Given the description of an element on the screen output the (x, y) to click on. 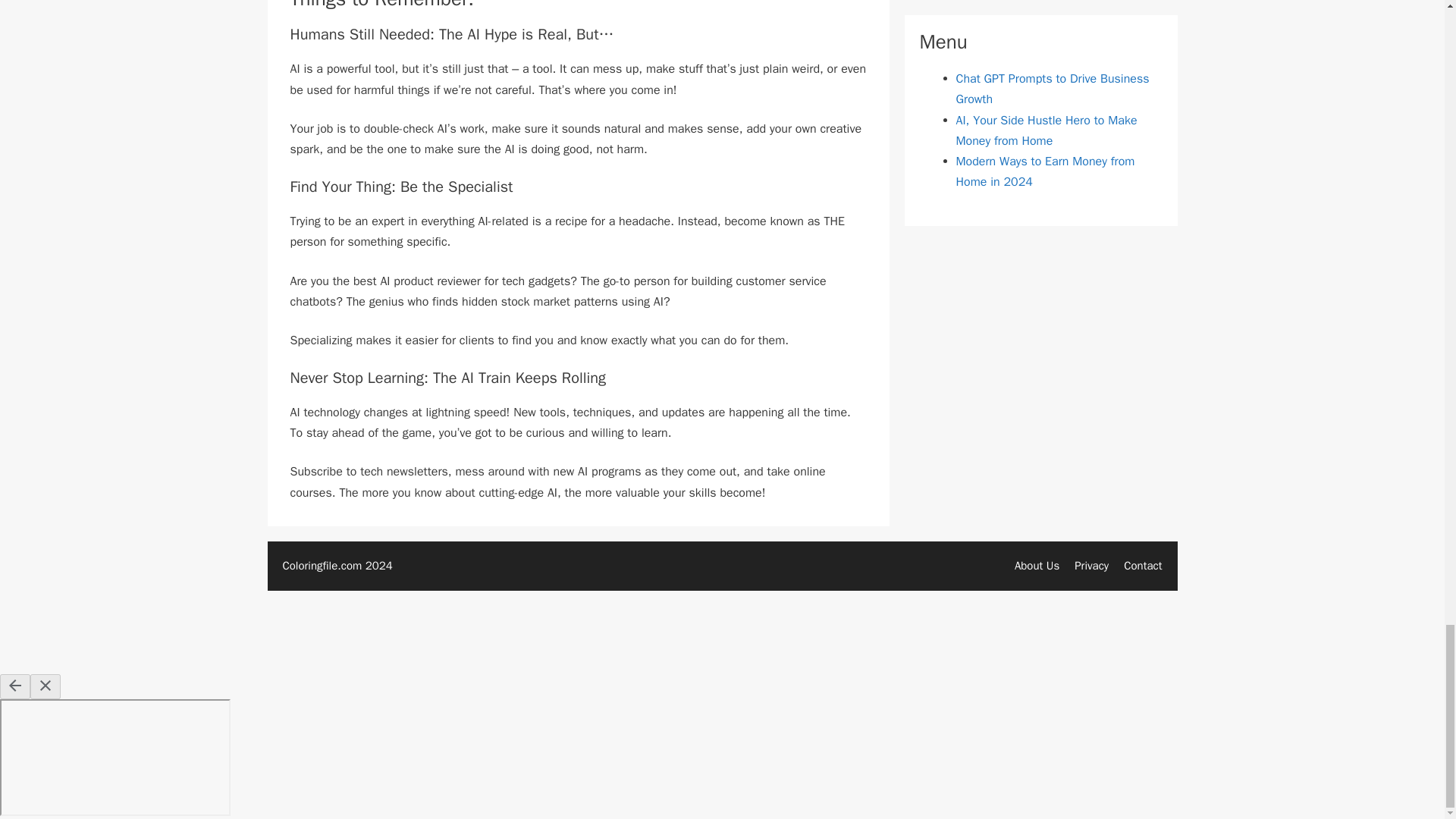
About Us (1036, 565)
Contact (1142, 565)
Privacy (1091, 565)
